Given the description of an element on the screen output the (x, y) to click on. 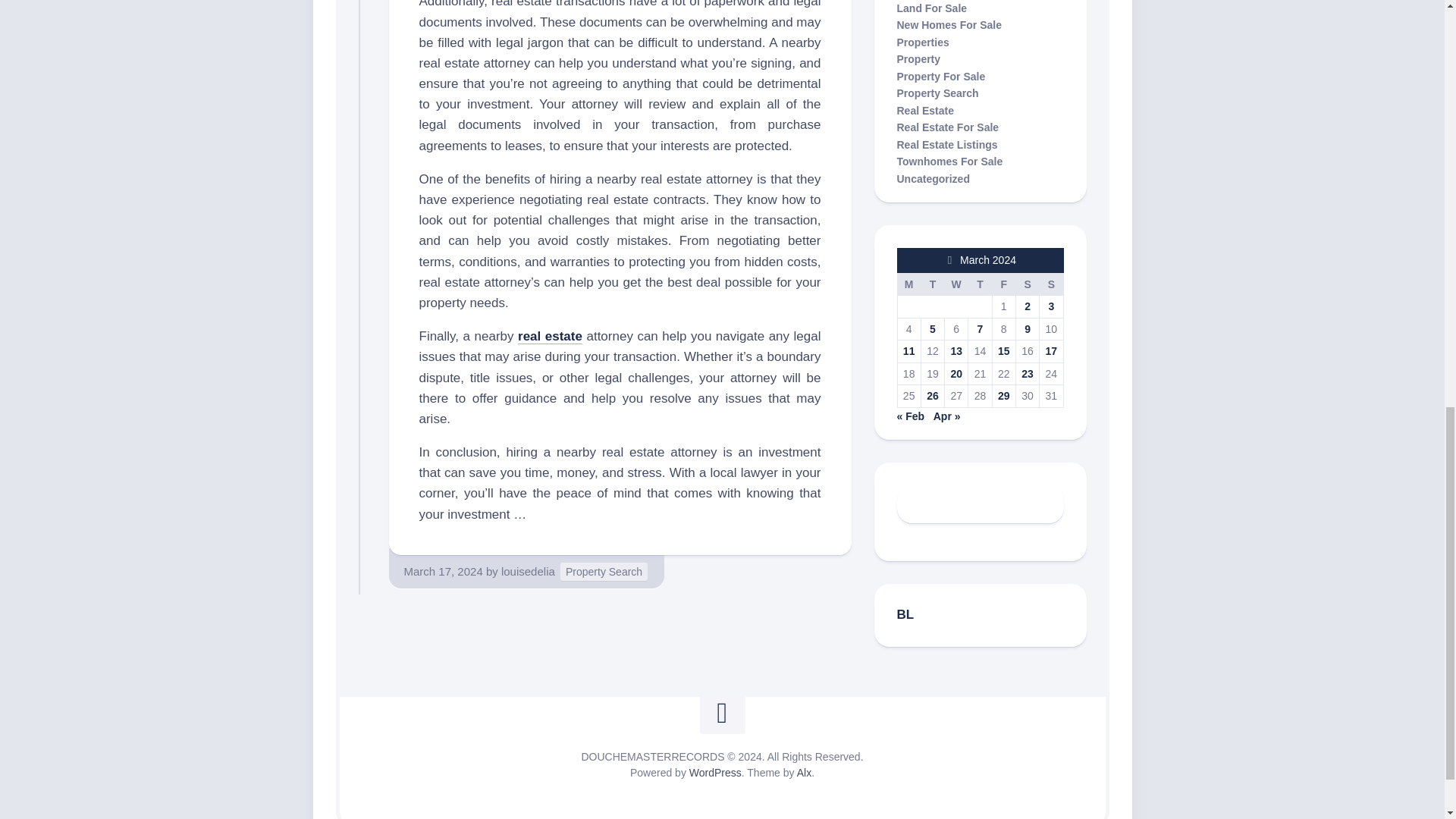
Thursday (979, 283)
Property (918, 59)
Monday (908, 283)
Property Search (937, 92)
Tuesday (931, 283)
real estate (550, 336)
Wednesday (956, 283)
Sunday (1050, 283)
Friday (1002, 283)
Posts by louisedelia (527, 571)
